Given the description of an element on the screen output the (x, y) to click on. 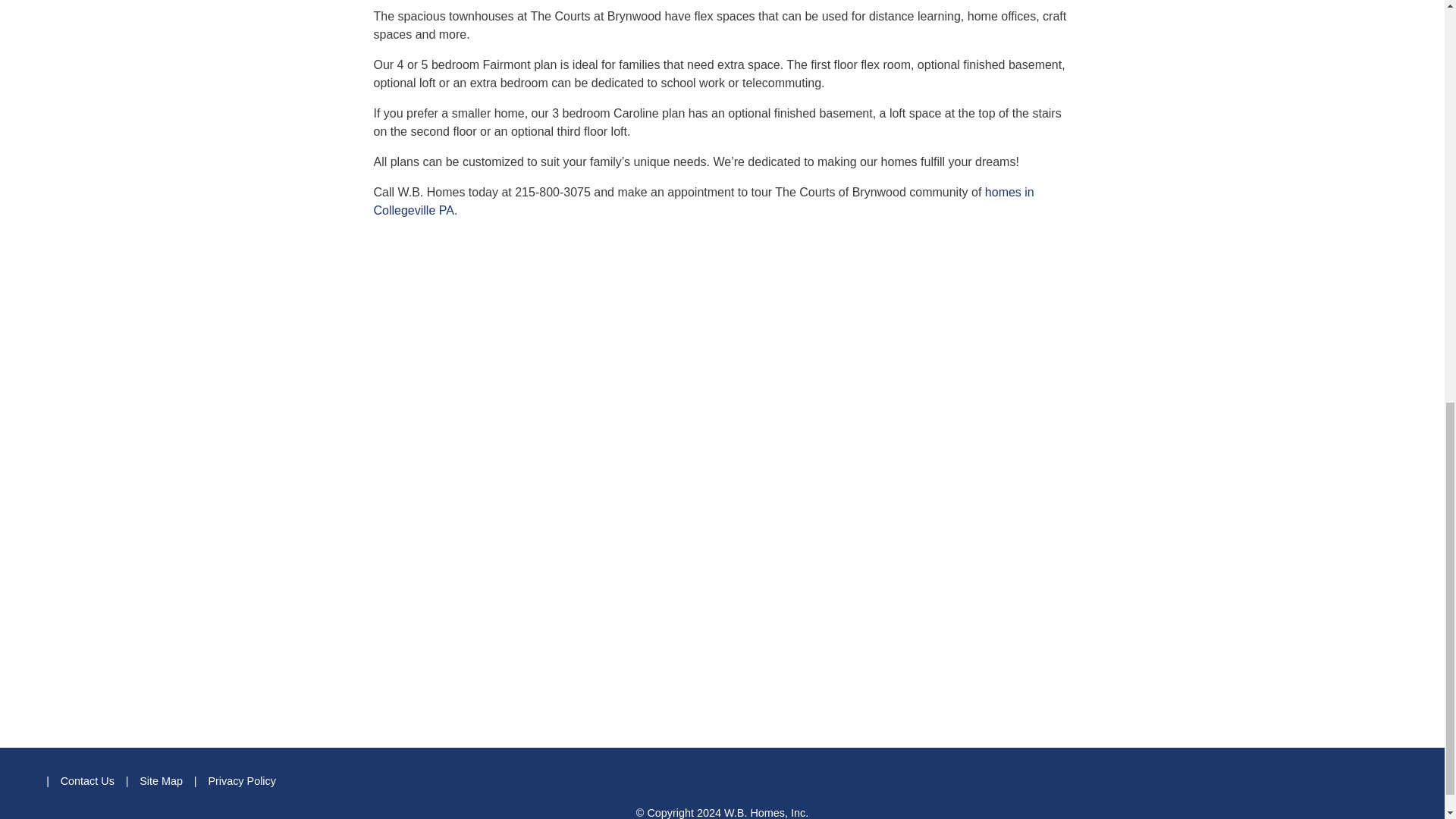
Site Map (161, 780)
homes in Collegeville PA (702, 201)
Privacy Policy (242, 780)
Contact Us (88, 780)
